Given the description of an element on the screen output the (x, y) to click on. 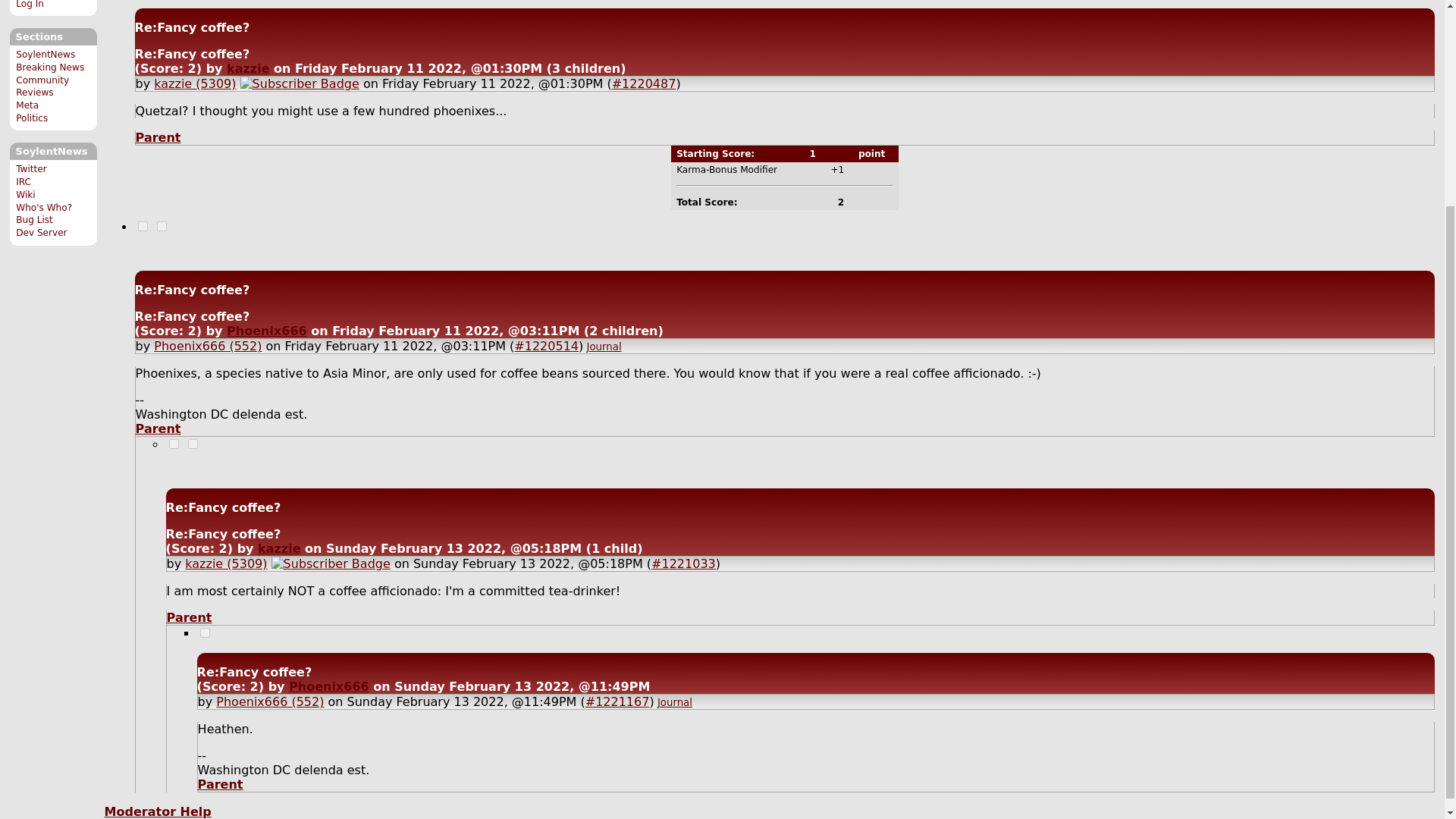
on (162, 225)
Subscriber Badge (299, 83)
Dev Server (41, 232)
Log In (29, 4)
on (204, 633)
IRC (23, 181)
SoylentNews (45, 54)
on (143, 225)
